Given the description of an element on the screen output the (x, y) to click on. 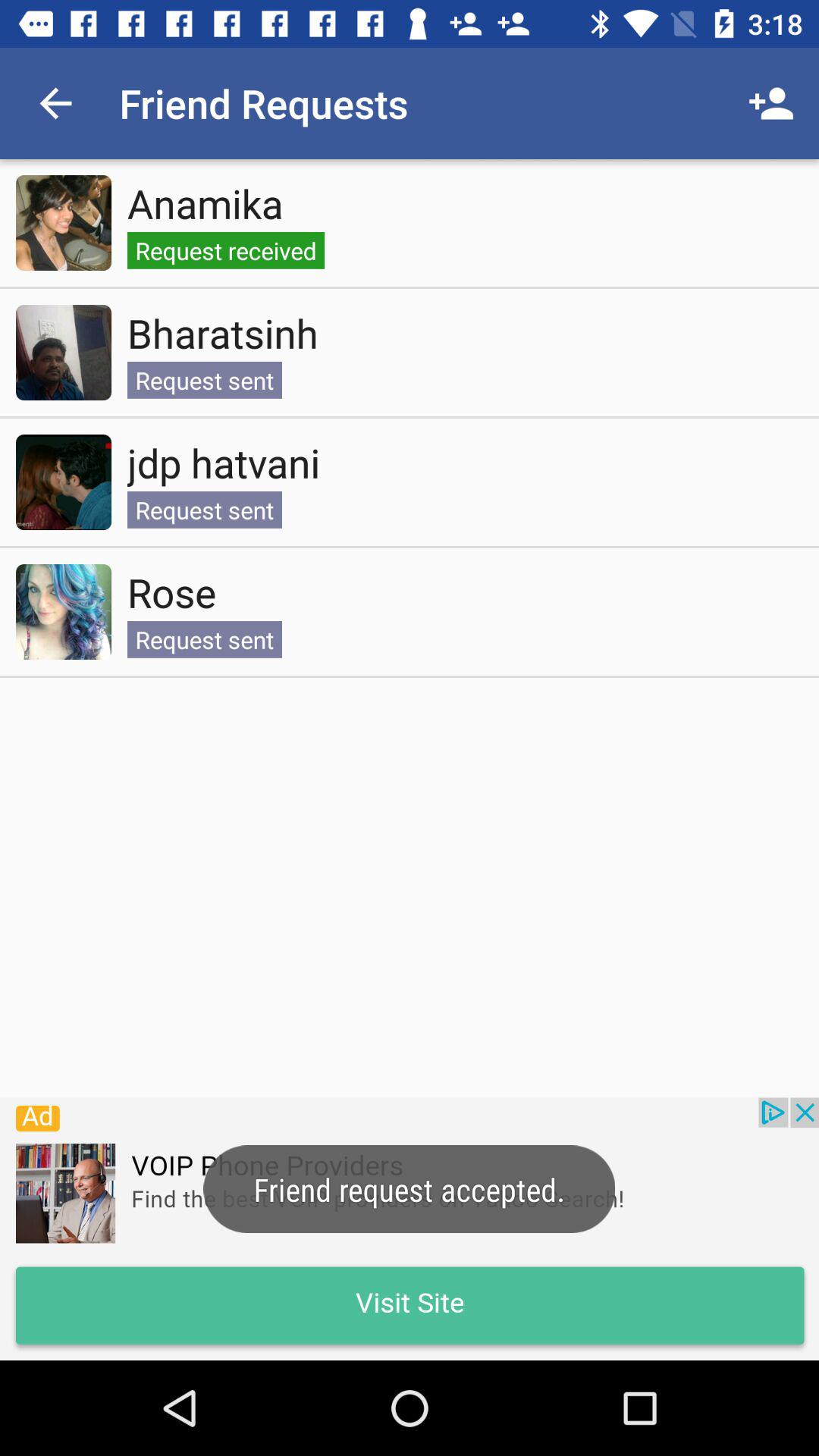
avater icon (63, 482)
